Given the description of an element on the screen output the (x, y) to click on. 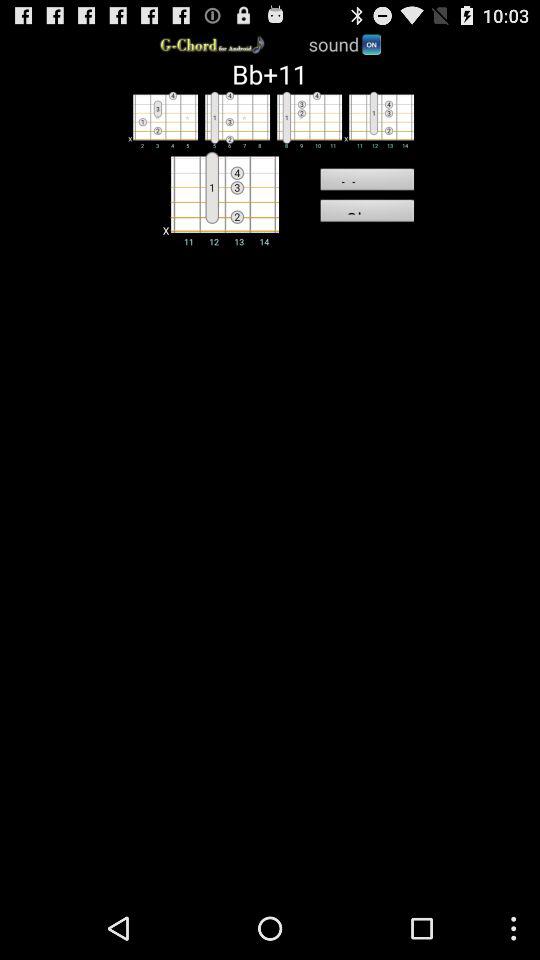
open item below the memo (366, 213)
